Given the description of an element on the screen output the (x, y) to click on. 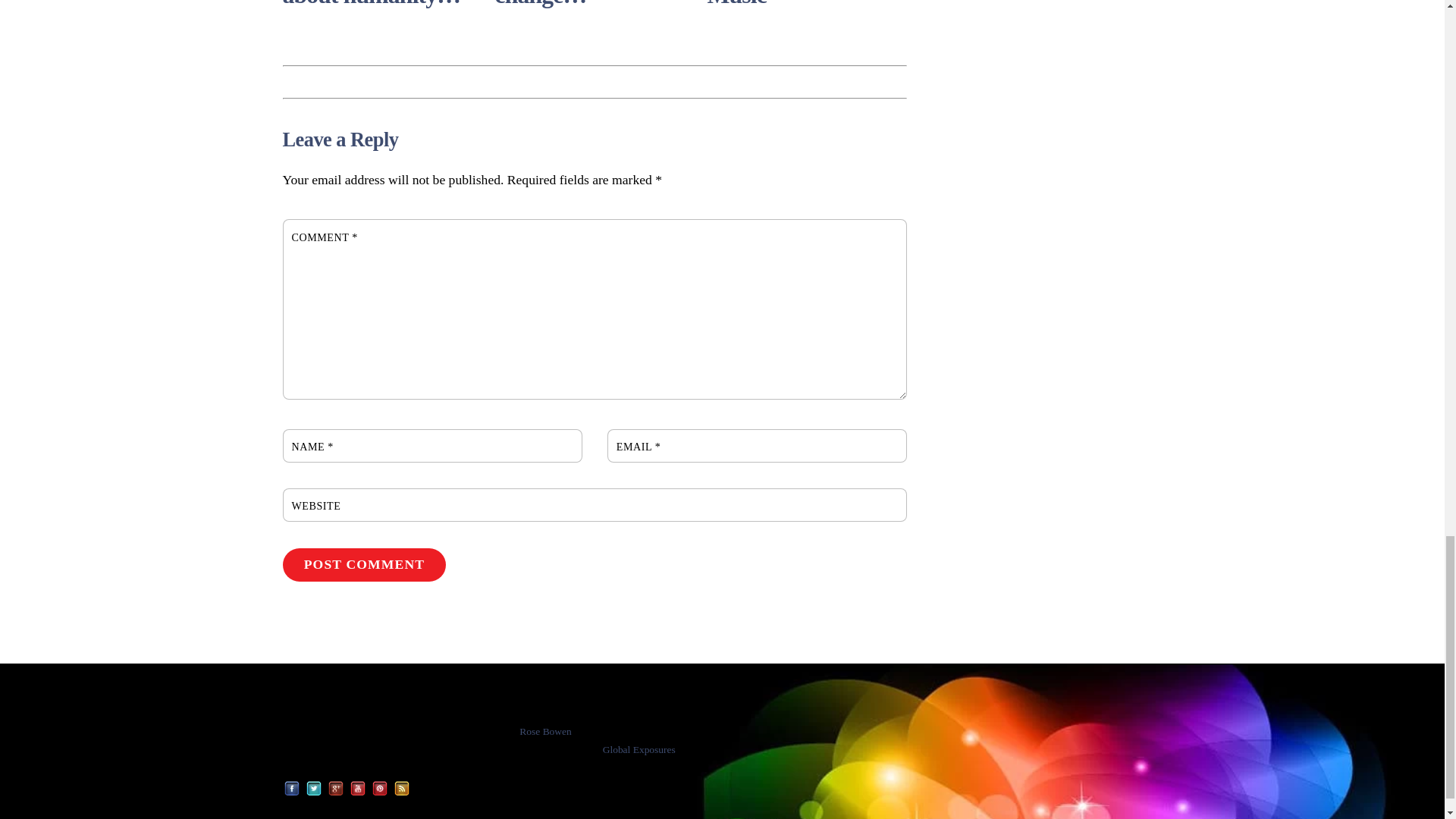
Post Comment (363, 564)
Post Comment (363, 564)
Rose Bowen (325, 731)
Memories and Music (777, 4)
